Given the description of an element on the screen output the (x, y) to click on. 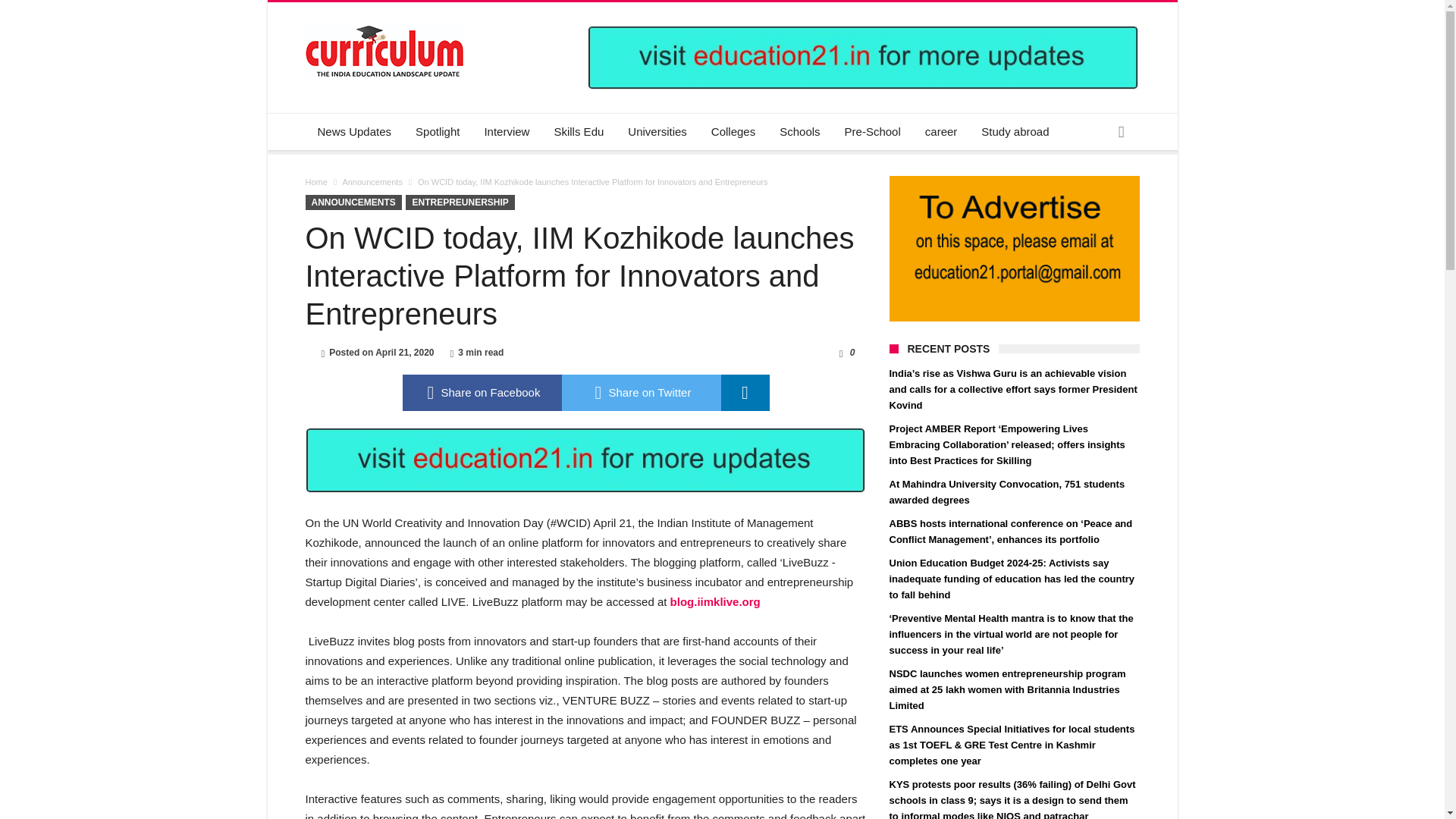
Curriculum Magazine (383, 24)
facebook (480, 392)
Share on Linkedin (744, 392)
Spotlight (437, 131)
Announcements (372, 181)
Study abroad (1015, 131)
News Updates (353, 131)
Interview (506, 131)
blog.iimklive.org (714, 601)
ENTREPREUNERSHIP (459, 201)
Skills Edu (578, 131)
I like this article (840, 352)
Colleges (732, 131)
career (940, 131)
Home (315, 181)
